Given the description of an element on the screen output the (x, y) to click on. 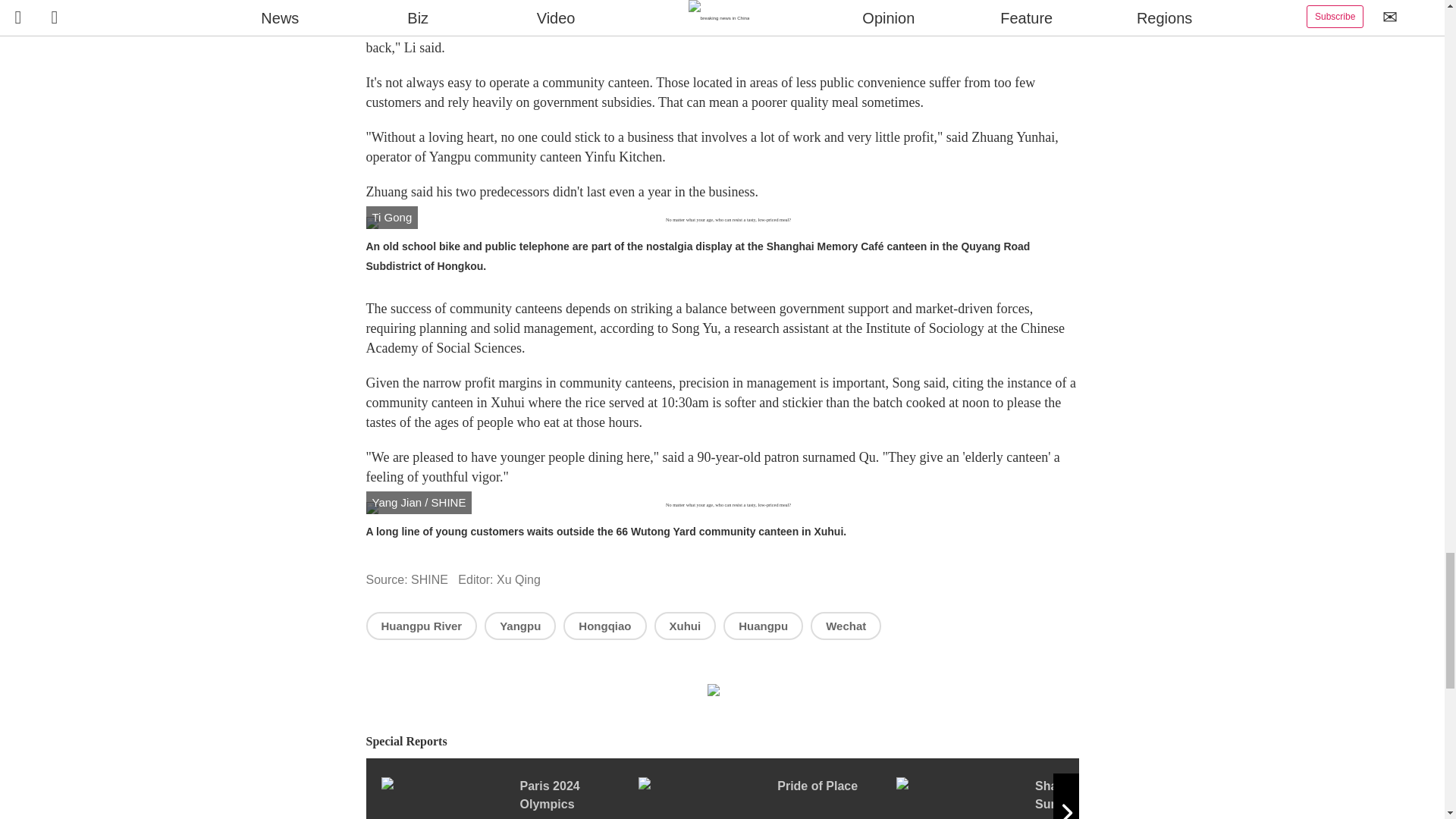
Hongqiao (604, 625)
Special Reports (721, 742)
Huangpu (763, 625)
Wechat (845, 625)
Shanghai Summer (1024, 798)
Xuhui (684, 625)
Paris 2024 Olympics (508, 798)
Huangpu River (421, 625)
Pride of Place (767, 798)
Yangpu (520, 625)
